Given the description of an element on the screen output the (x, y) to click on. 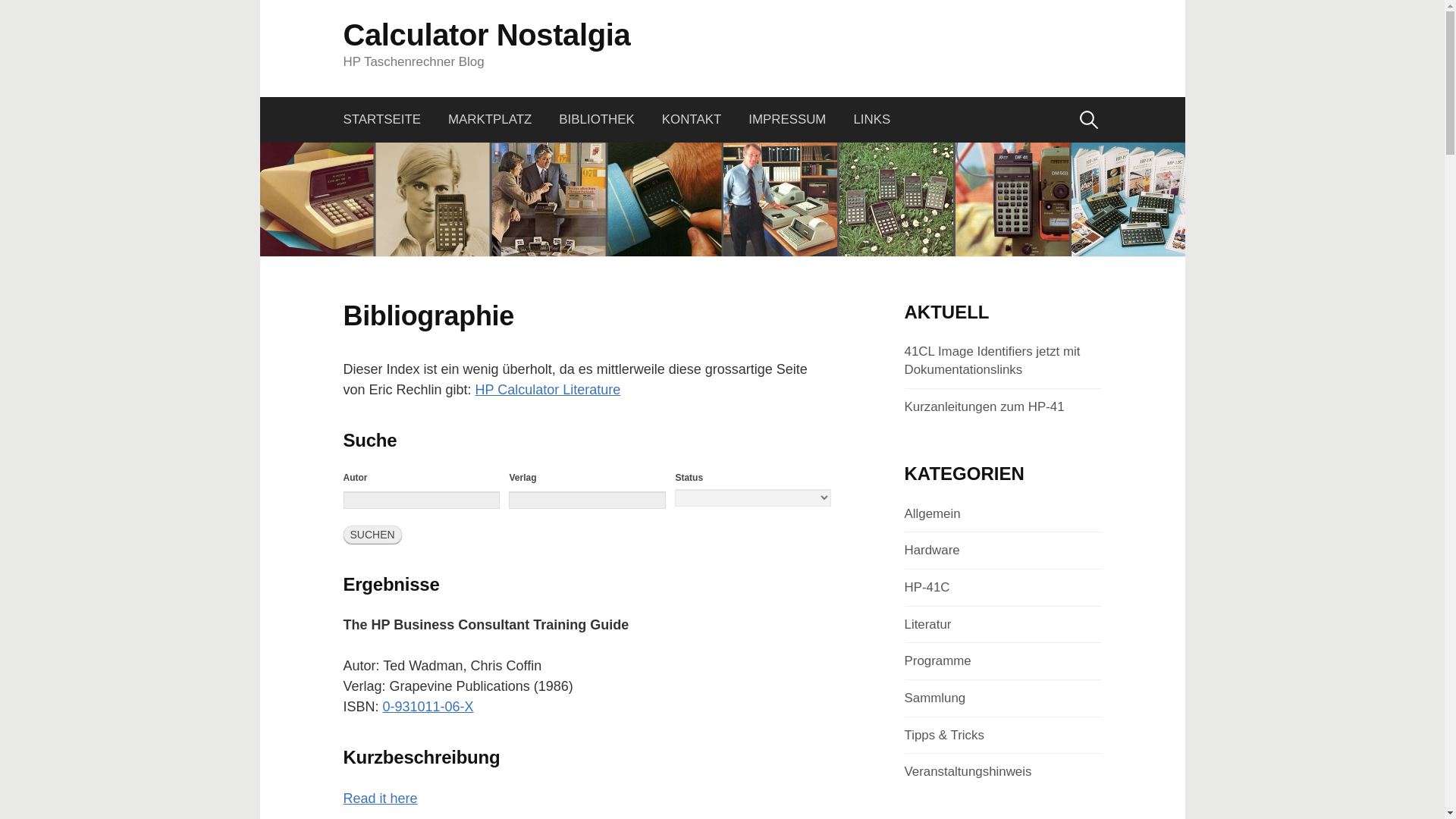
Literatur (927, 624)
Veranstaltungshinweis (967, 771)
Suche (16, 16)
Hardware (931, 549)
Allgemein (931, 513)
41CL Image Identifiers jetzt mit Dokumentationslinks (992, 359)
0-931011-06-X (428, 706)
Kurzanleitungen zum HP-41 (984, 406)
Calculator Nostalgia (486, 34)
BIBLIOTHEK (595, 119)
Read it here (379, 798)
KONTAKT (691, 119)
HP Calculator Literature (548, 389)
LINKS (872, 119)
HP-41C (926, 586)
